Given the description of an element on the screen output the (x, y) to click on. 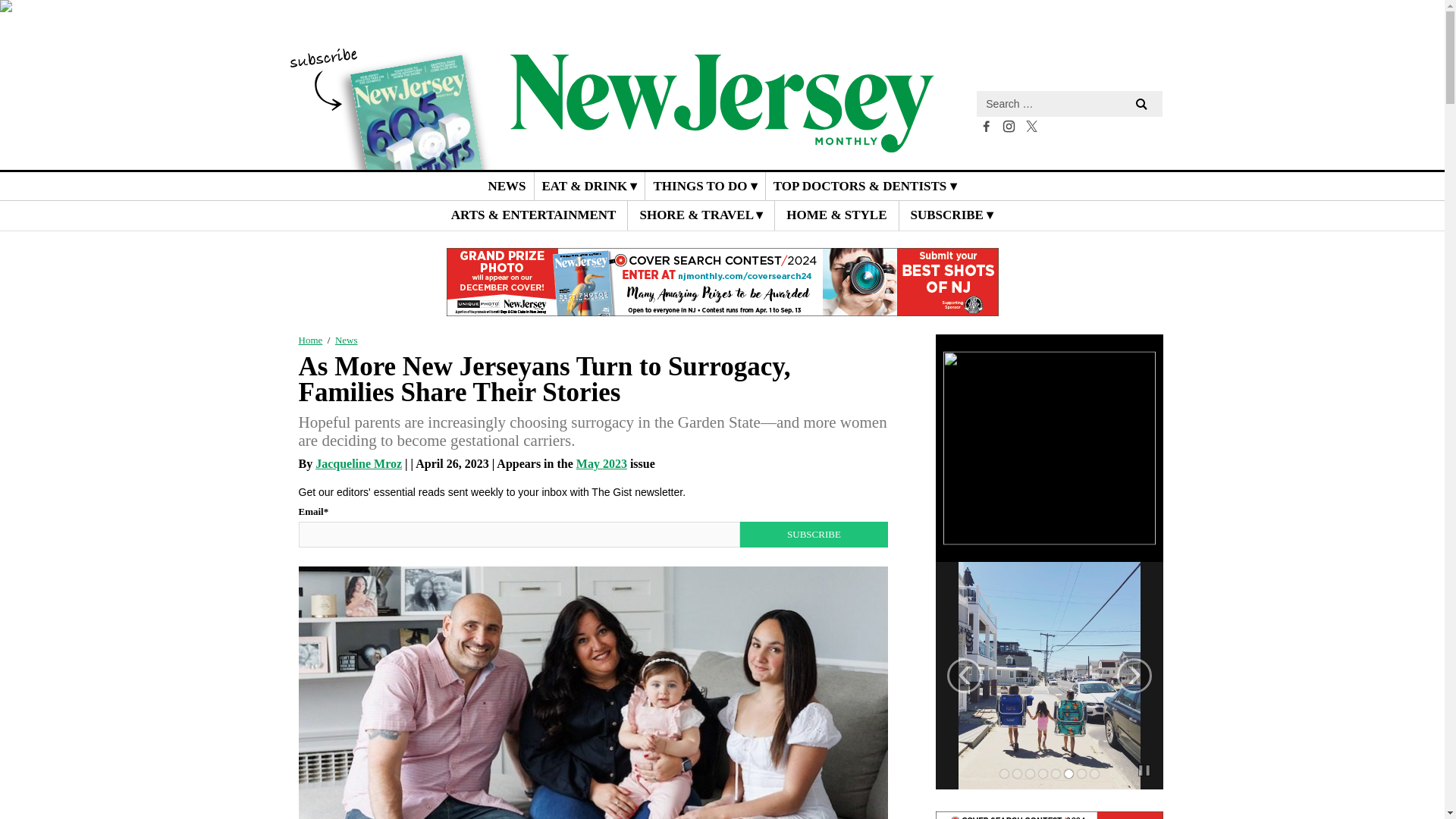
Subscribe (812, 534)
New Jersey Monthly (722, 141)
NEWS (506, 185)
Search for: (1068, 103)
